Given the description of an element on the screen output the (x, y) to click on. 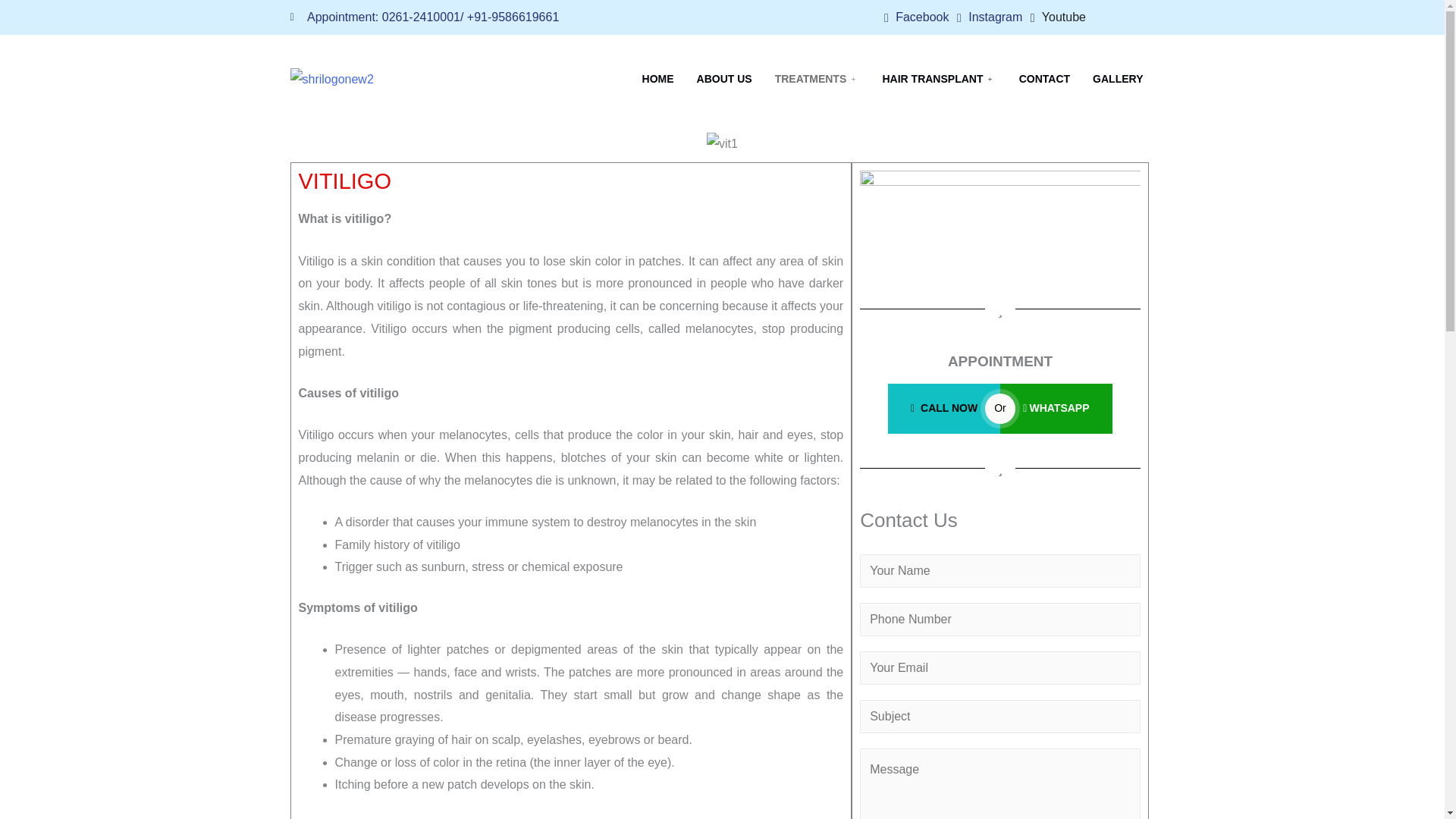
Facebook (916, 16)
TREATMENTS (816, 79)
Instagram (989, 16)
HOME (657, 79)
ABOUT US (723, 79)
Youtube (1058, 16)
